Given the description of an element on the screen output the (x, y) to click on. 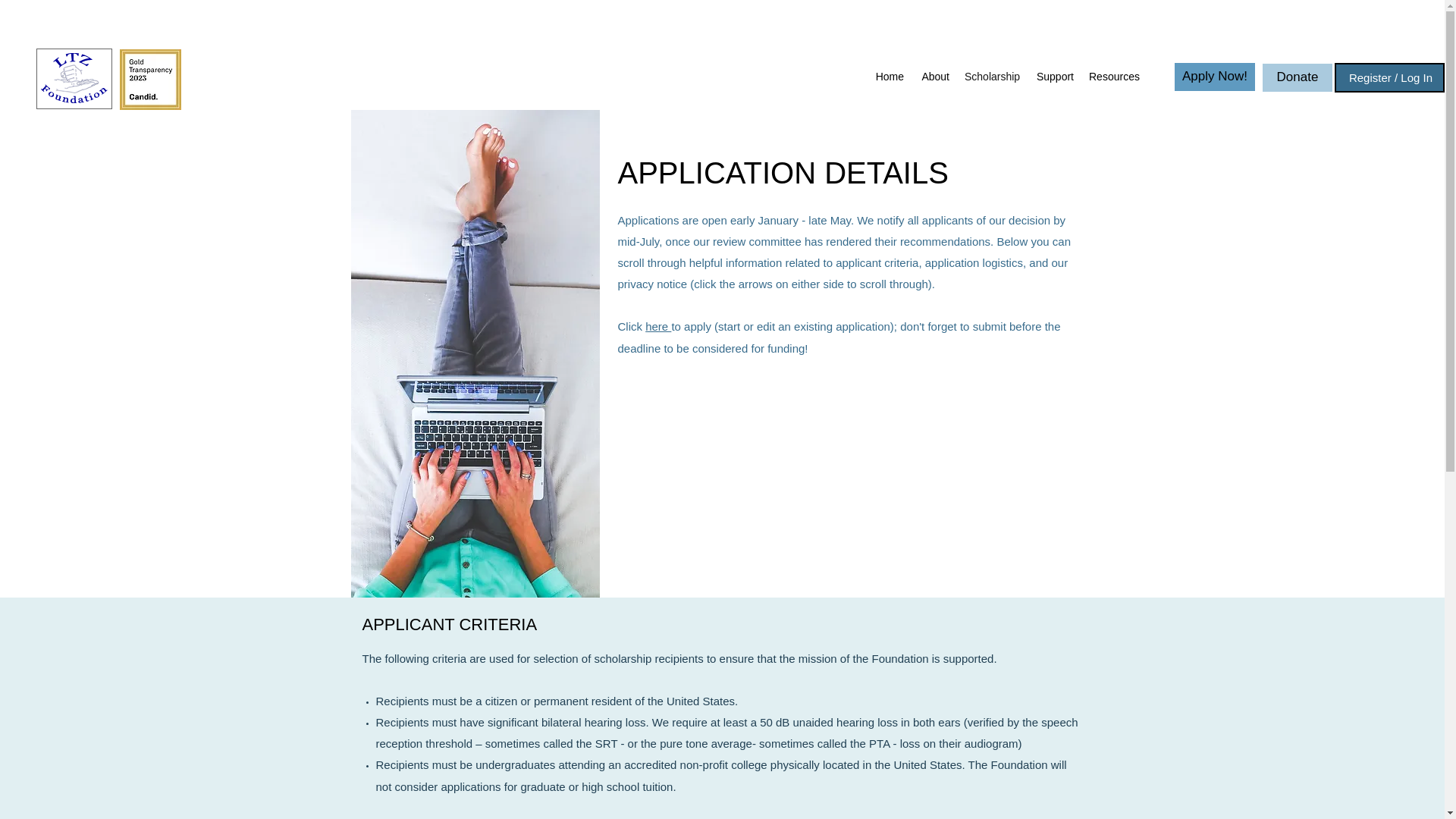
Donate (1297, 77)
here  (658, 326)
About (933, 76)
Apply Now! (1214, 76)
Support (1053, 76)
Resources (1112, 76)
Home (889, 76)
Scholarship (991, 76)
